Given the description of an element on the screen output the (x, y) to click on. 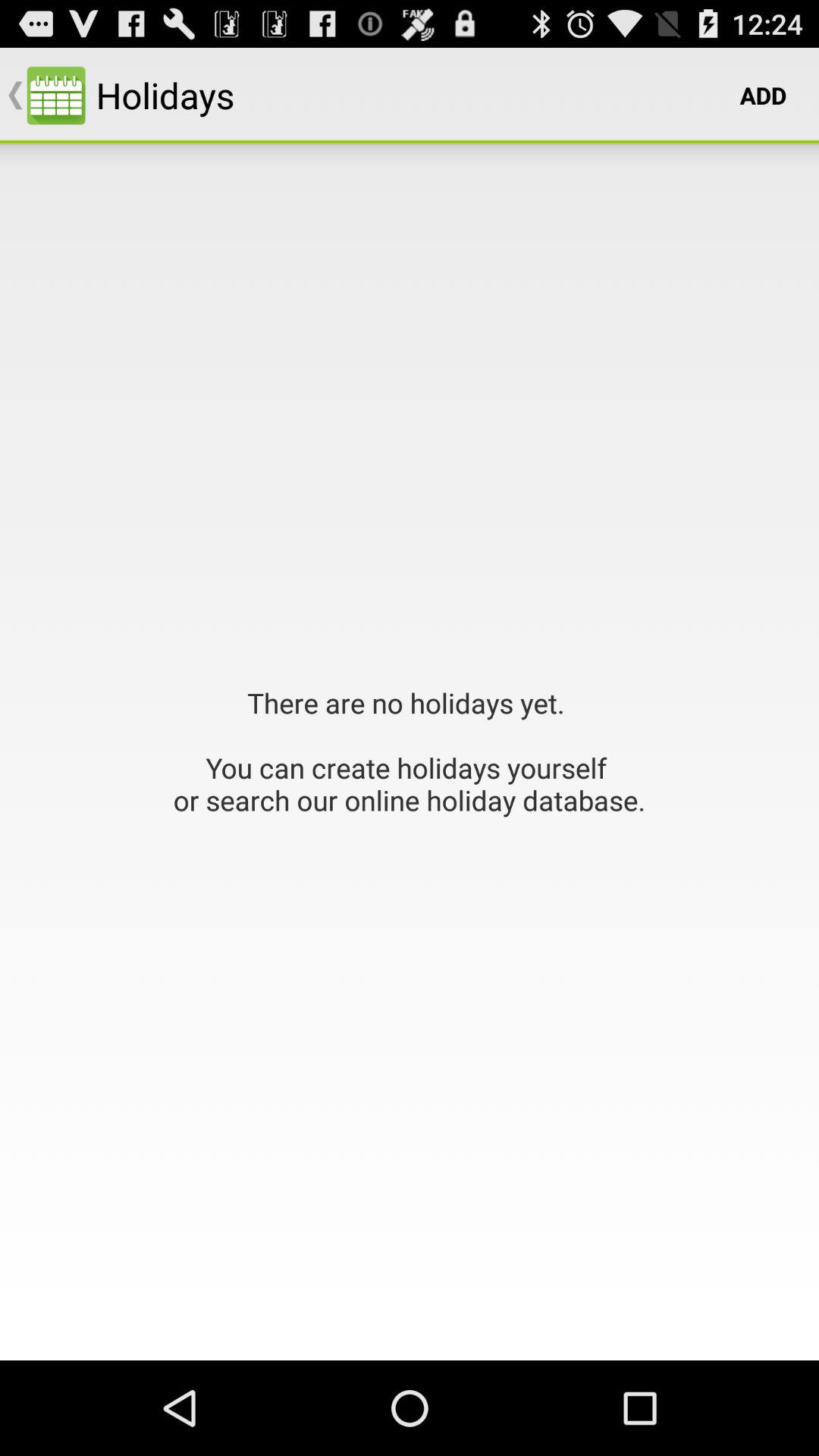
select item to the right of holidays icon (763, 95)
